Given the description of an element on the screen output the (x, y) to click on. 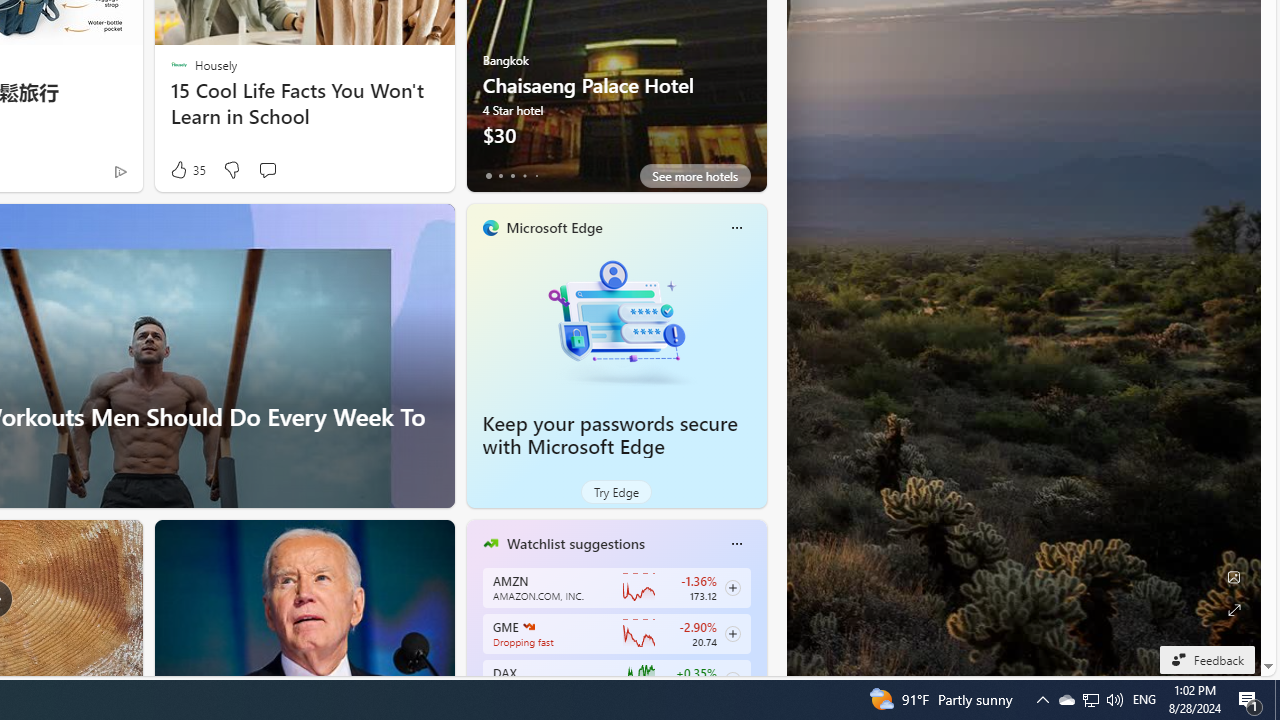
Keep your passwords secure with Microsoft Edge (610, 435)
Keep your passwords secure with Microsoft Edge (616, 321)
35 Like (186, 170)
Class: icon-img (736, 543)
Watchlist suggestions (575, 543)
tab-0 (488, 175)
Edit Background (1233, 577)
